Given the description of an element on the screen output the (x, y) to click on. 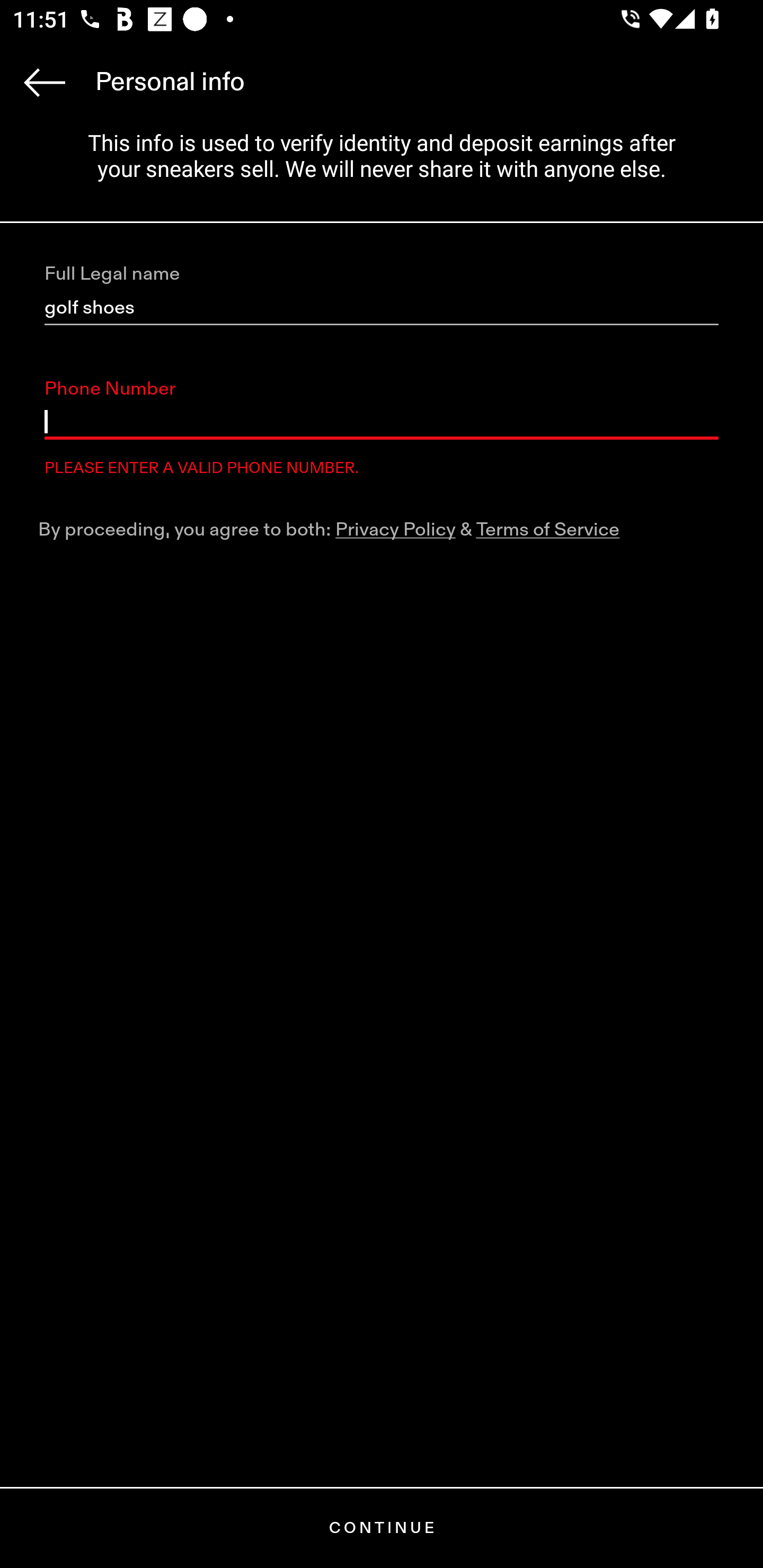
Navigate up (44, 82)
golf shoes (381, 308)
Phone Number (381, 422)
CONTINUE (381, 1528)
